Given the description of an element on the screen output the (x, y) to click on. 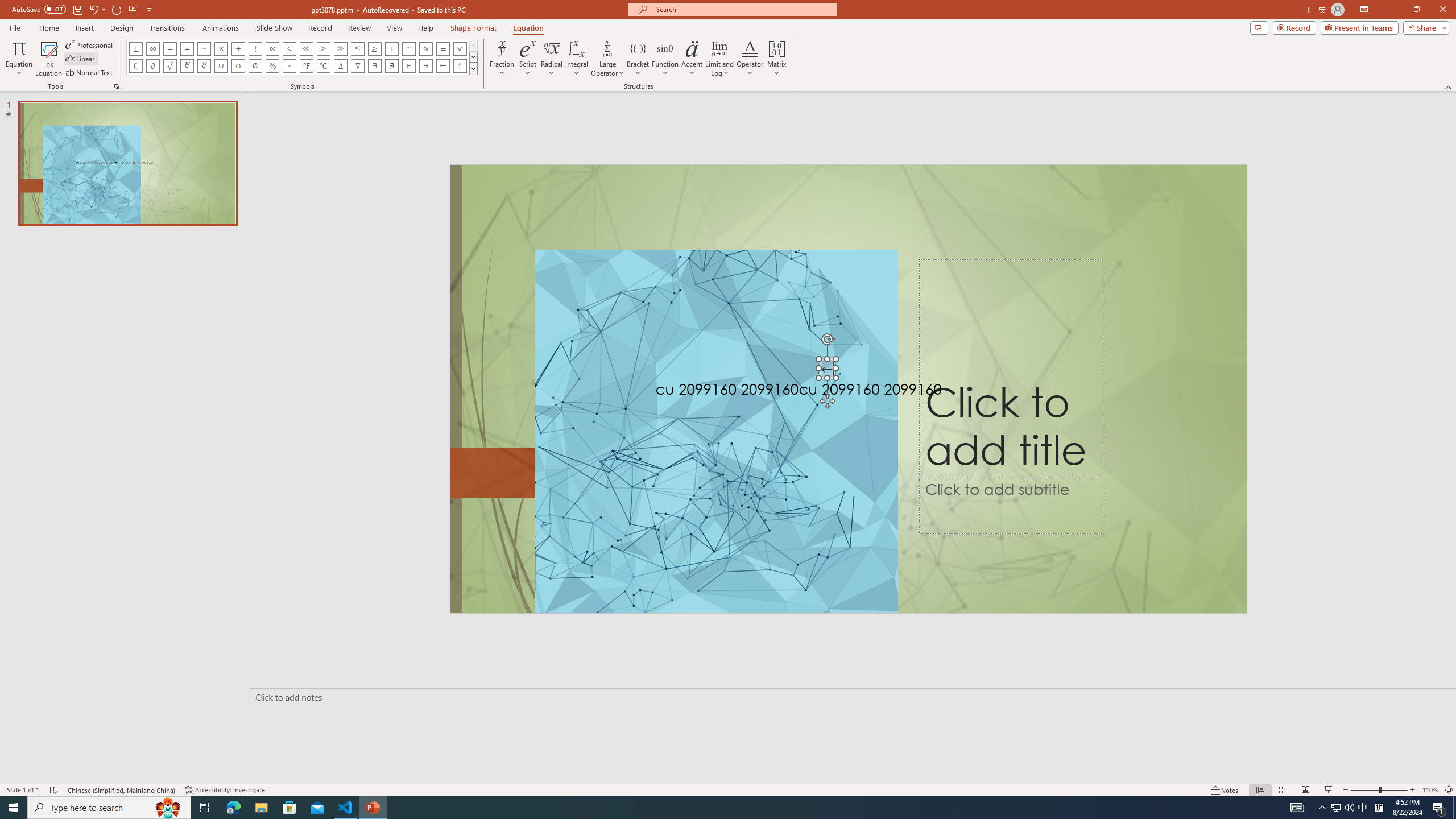
Equation Symbol Not Equal To (187, 48)
Equation Symbol Greater Than or Equal To (374, 48)
Equation Symbol Multiplication Sign (221, 48)
Matrix (776, 58)
